Given the description of an element on the screen output the (x, y) to click on. 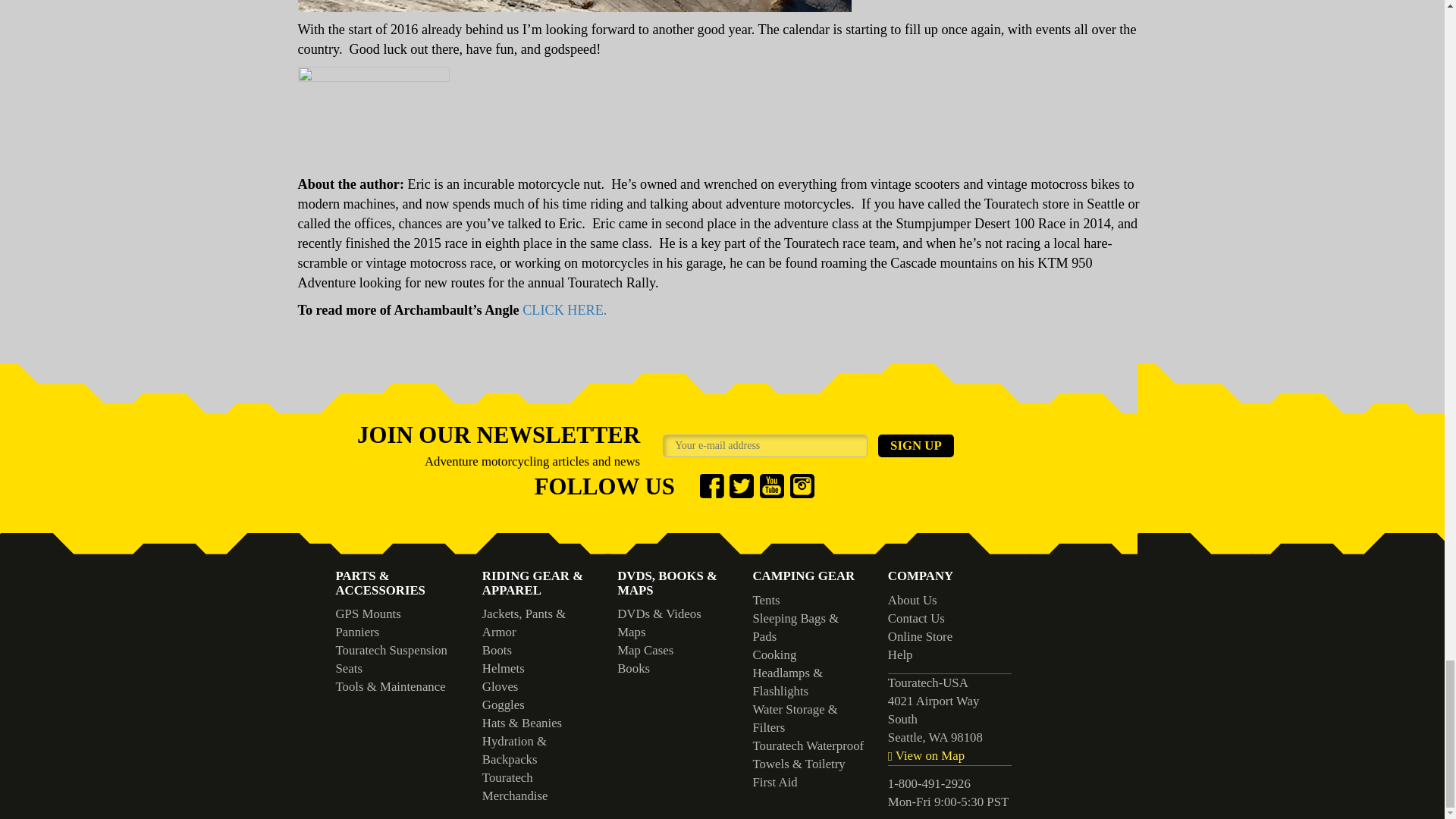
 CLICK HERE.  (564, 309)
Seats (347, 667)
Gloves (499, 686)
GPS Mounts (367, 613)
Goggles (502, 704)
Boots (496, 649)
Touratech Merchandise (514, 786)
Panniers (356, 631)
Sign up (915, 445)
Touratech Suspension (390, 649)
